Given the description of an element on the screen output the (x, y) to click on. 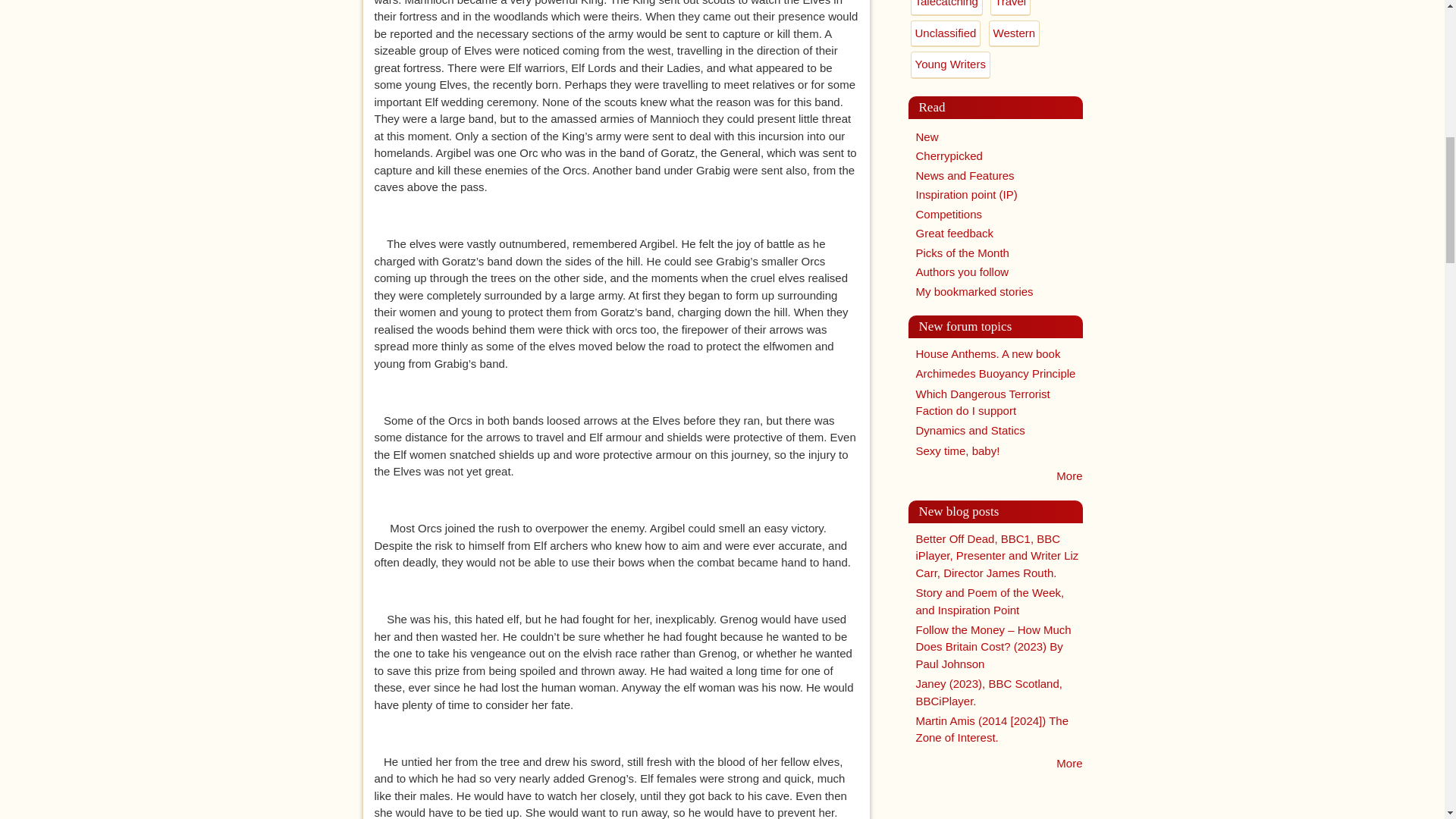
Read the latest forum topics. (1069, 475)
3 comments (982, 401)
3 comments (970, 430)
Read the latest blog entries. (1069, 762)
